Given the description of an element on the screen output the (x, y) to click on. 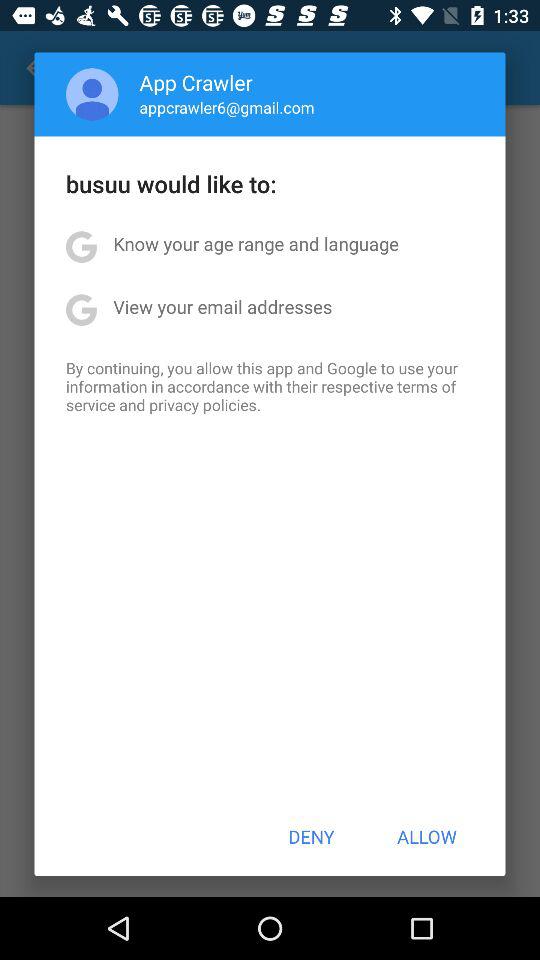
click app next to the app crawler app (92, 94)
